Given the description of an element on the screen output the (x, y) to click on. 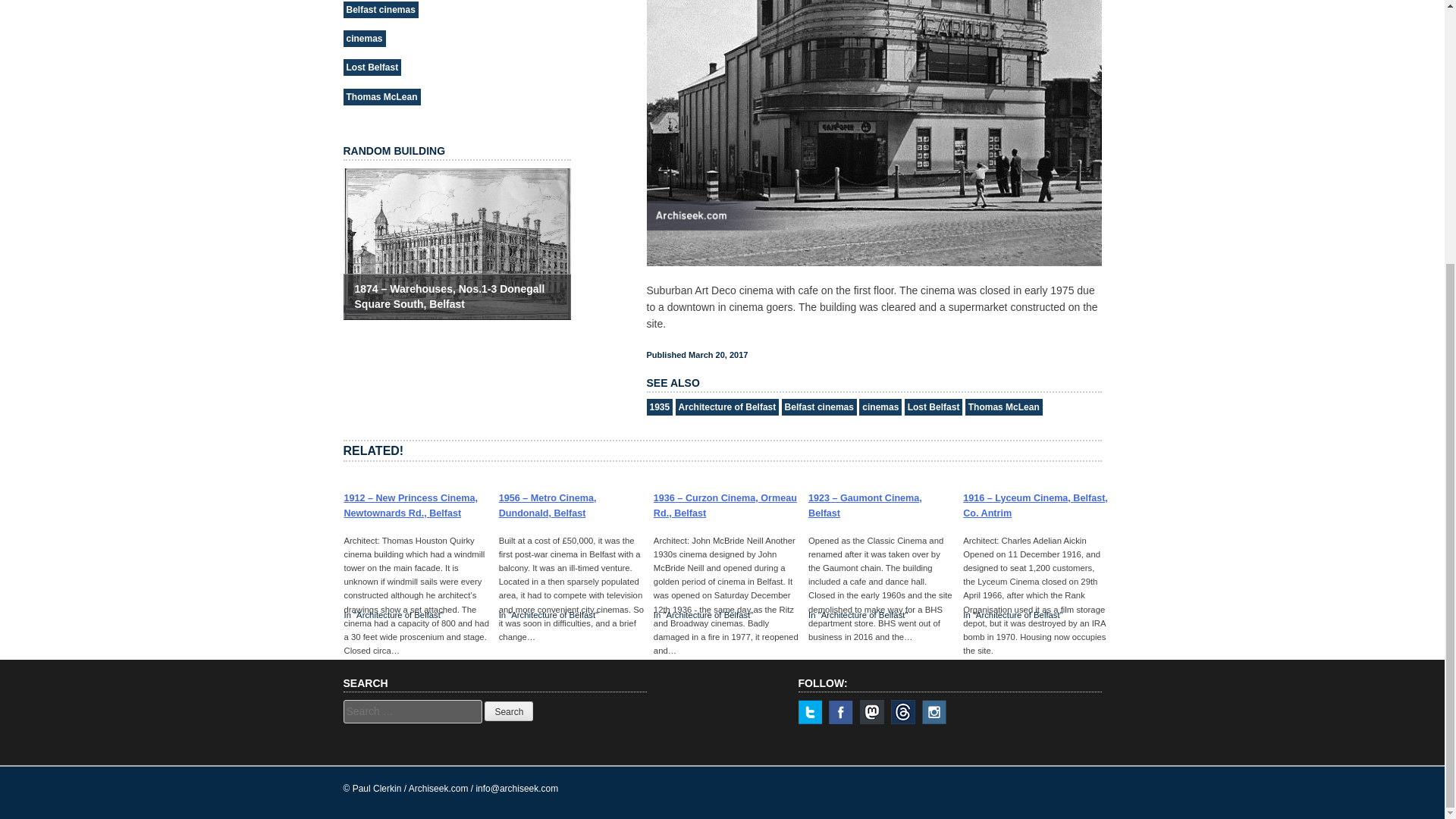
Search (508, 711)
Search (508, 711)
